Given the description of an element on the screen output the (x, y) to click on. 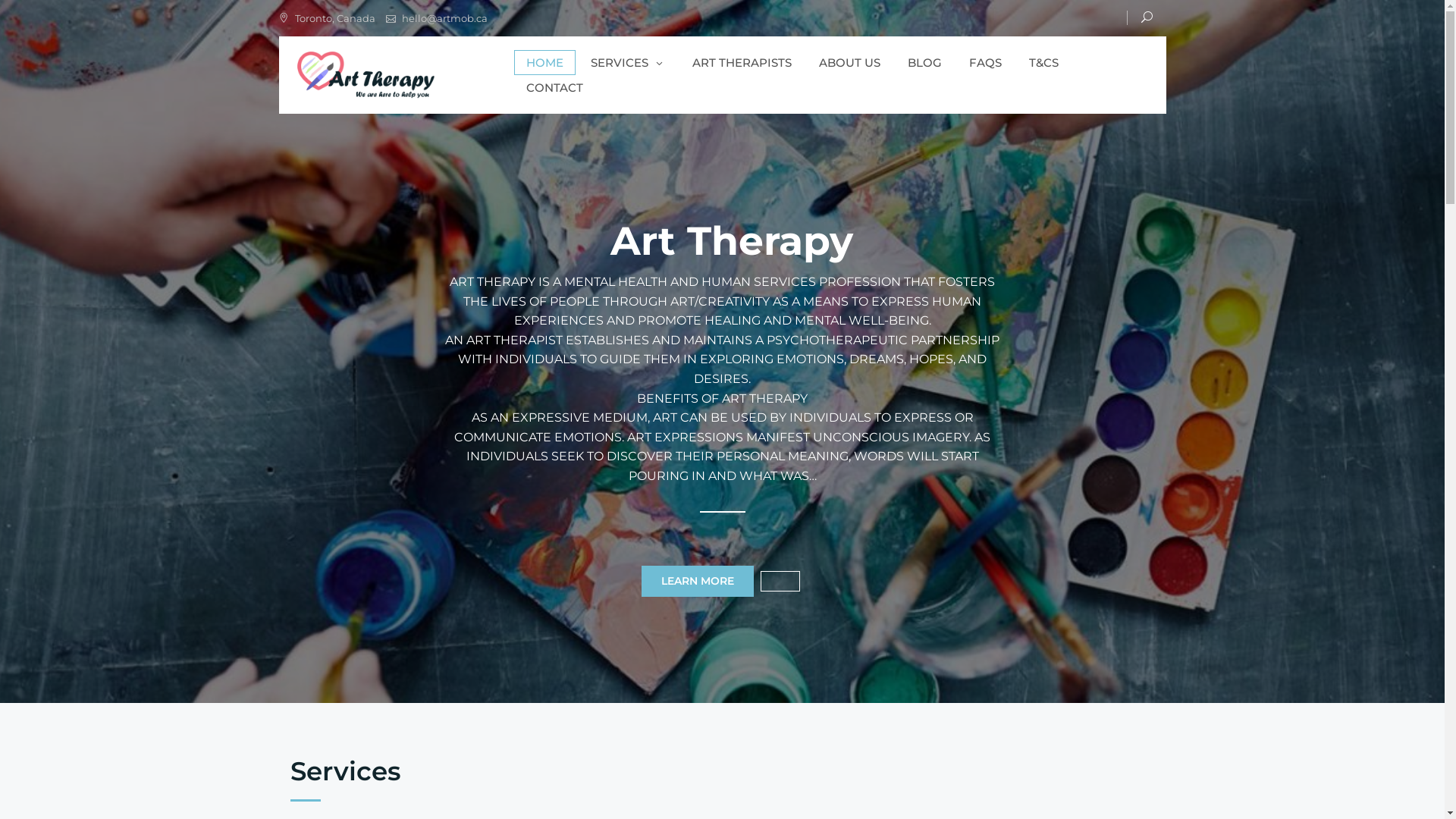
ABOUT US Element type: text (849, 62)
ART THERAPISTS Element type: text (741, 62)
Search Element type: text (48, 15)
T&CS Element type: text (1043, 62)
CONTACT Element type: text (554, 87)
BLOG Element type: text (923, 62)
SERVICES Element type: text (626, 62)
HOME Element type: text (544, 62)
hello@artmob.ca Element type: text (444, 18)
FAQS Element type: text (985, 62)
LEARN MORE Element type: text (697, 580)
